Given the description of an element on the screen output the (x, y) to click on. 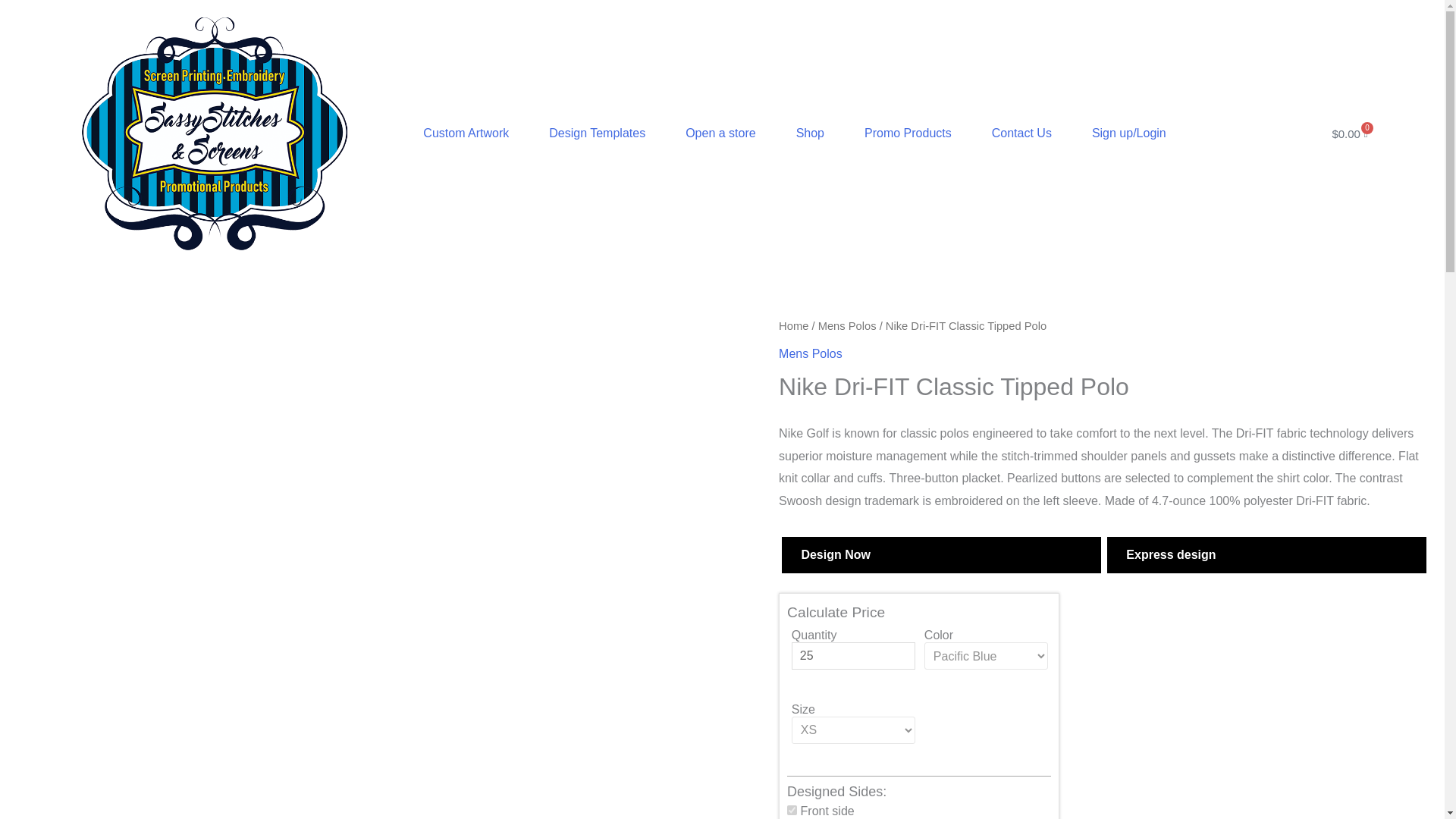
17261 (791, 809)
Home (793, 326)
Design Now (940, 555)
25 (853, 655)
Design Templates (597, 133)
Mens Polos (847, 326)
Promo Products (907, 133)
Contact Us (1021, 133)
Custom Artwork (465, 133)
Express design (1265, 555)
